Given the description of an element on the screen output the (x, y) to click on. 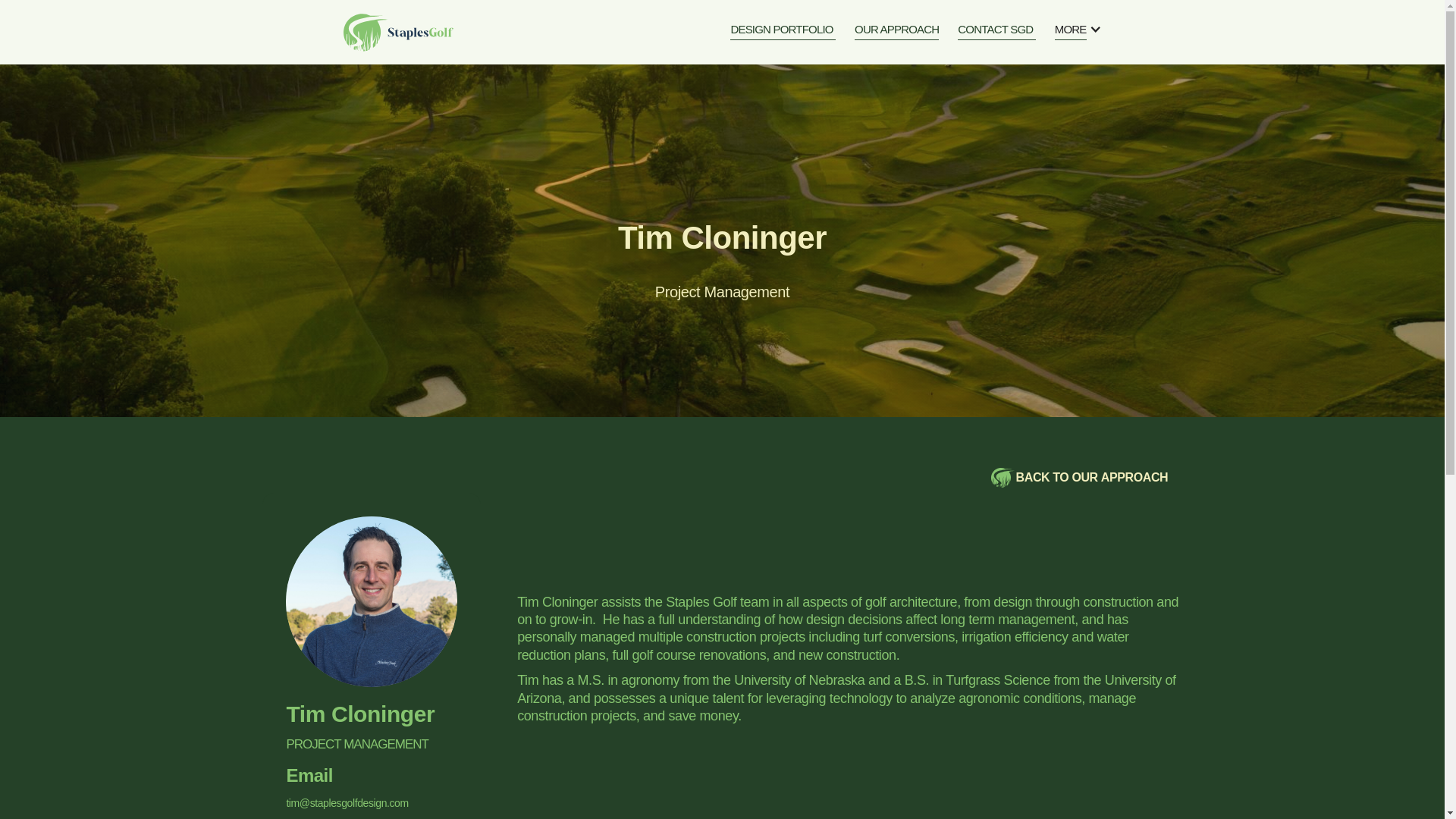
CONTACT SGD  (944, 477)
OUR APPROACH (996, 32)
DESIGN PORTFOLIO  (896, 32)
